Given the description of an element on the screen output the (x, y) to click on. 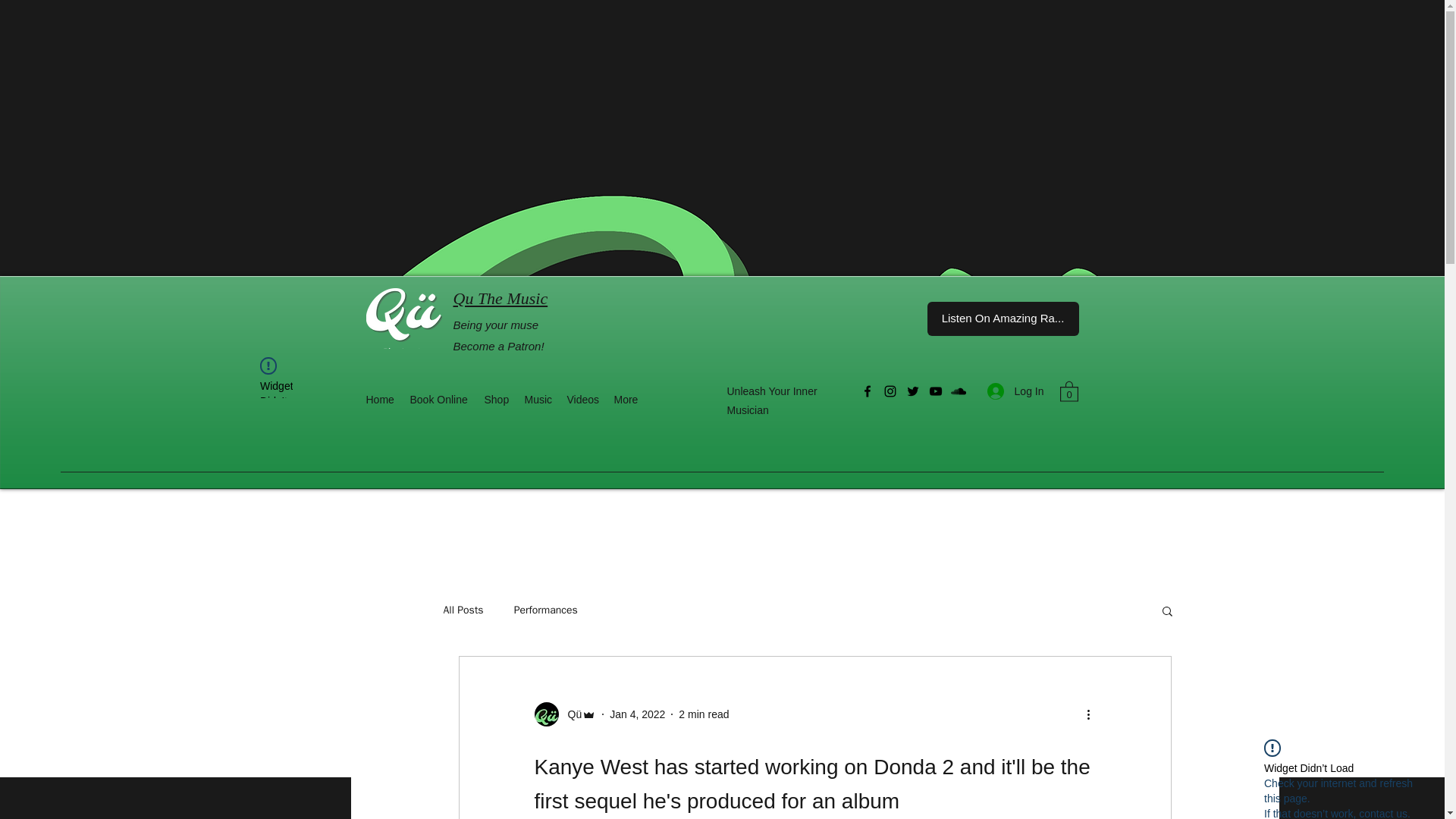
Jan 4, 2022 (637, 714)
Shop (496, 399)
REQUEST A SHOW (722, 175)
2 min read (703, 714)
All Posts (462, 610)
Smile.io Rewards Program Launcher (69, 780)
Log In (1015, 391)
Performances (545, 610)
Music (537, 399)
BandsintownBandsintown Fist Logo (1382, 26)
Book Online (438, 399)
Listen On Amazing Ra... (1002, 318)
BandsintownBandsintown Fist Logo (1382, 24)
Videos (583, 399)
Home (379, 399)
